Given the description of an element on the screen output the (x, y) to click on. 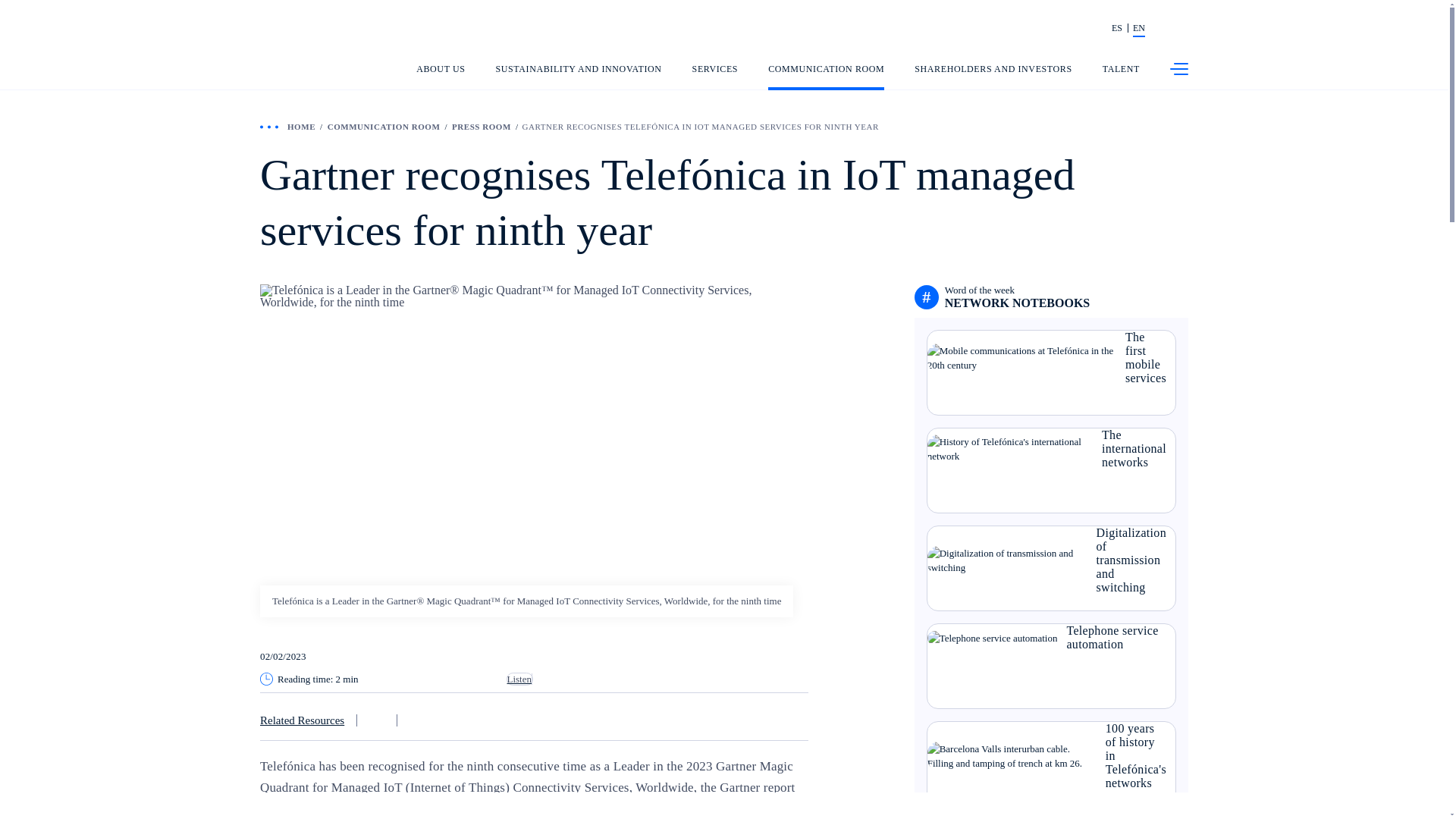
Listen to this page with ReadSpeaker webReader (520, 678)
Word of the week (1017, 297)
Info BME (1005, 28)
ABOUT US (440, 76)
SUSTAINABILITY AND INNOVATION (579, 76)
EN (1138, 29)
